Given the description of an element on the screen output the (x, y) to click on. 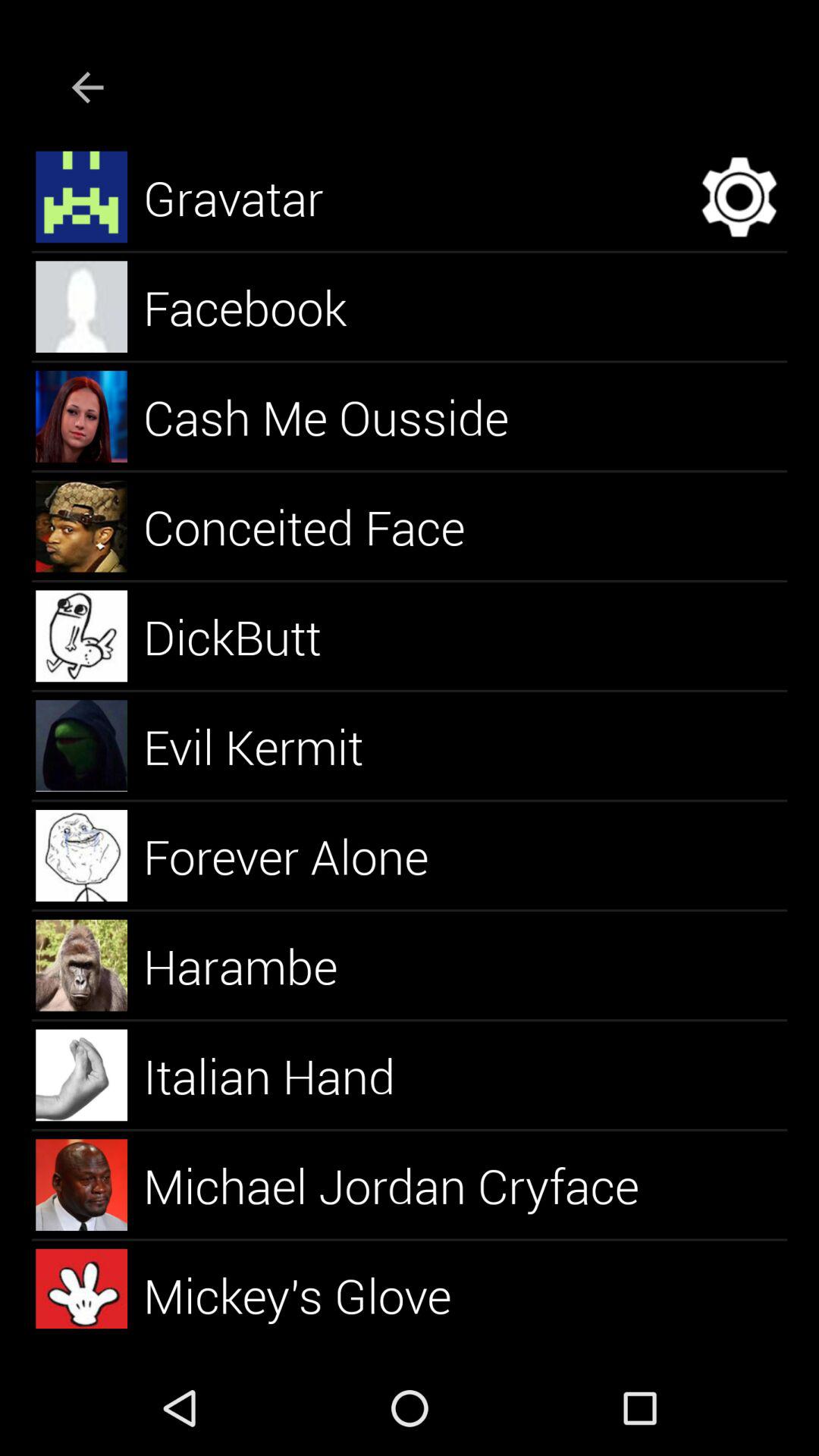
choose the forever alone icon (303, 855)
